Given the description of an element on the screen output the (x, y) to click on. 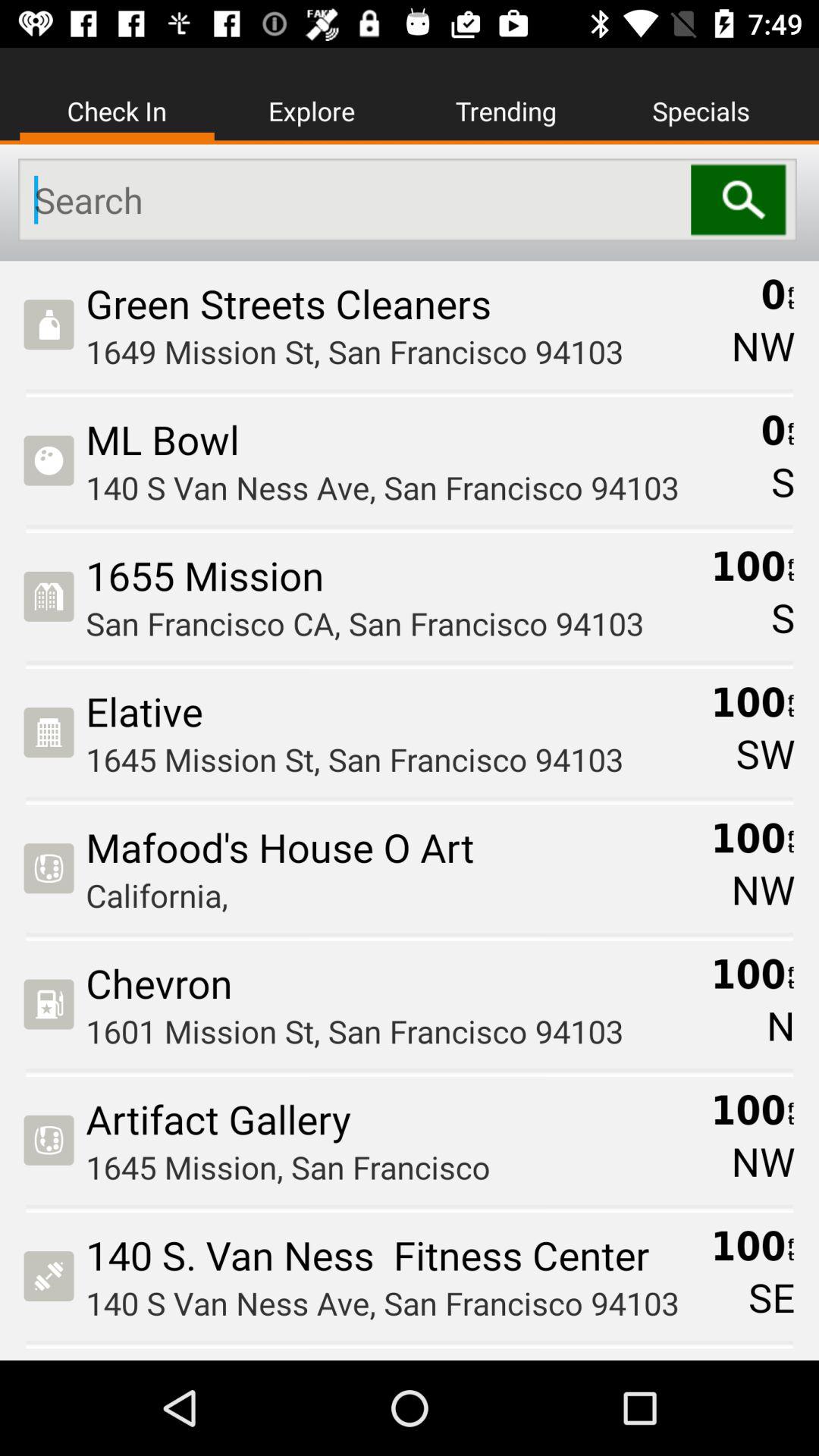
turn off the item below the check in item (354, 199)
